Given the description of an element on the screen output the (x, y) to click on. 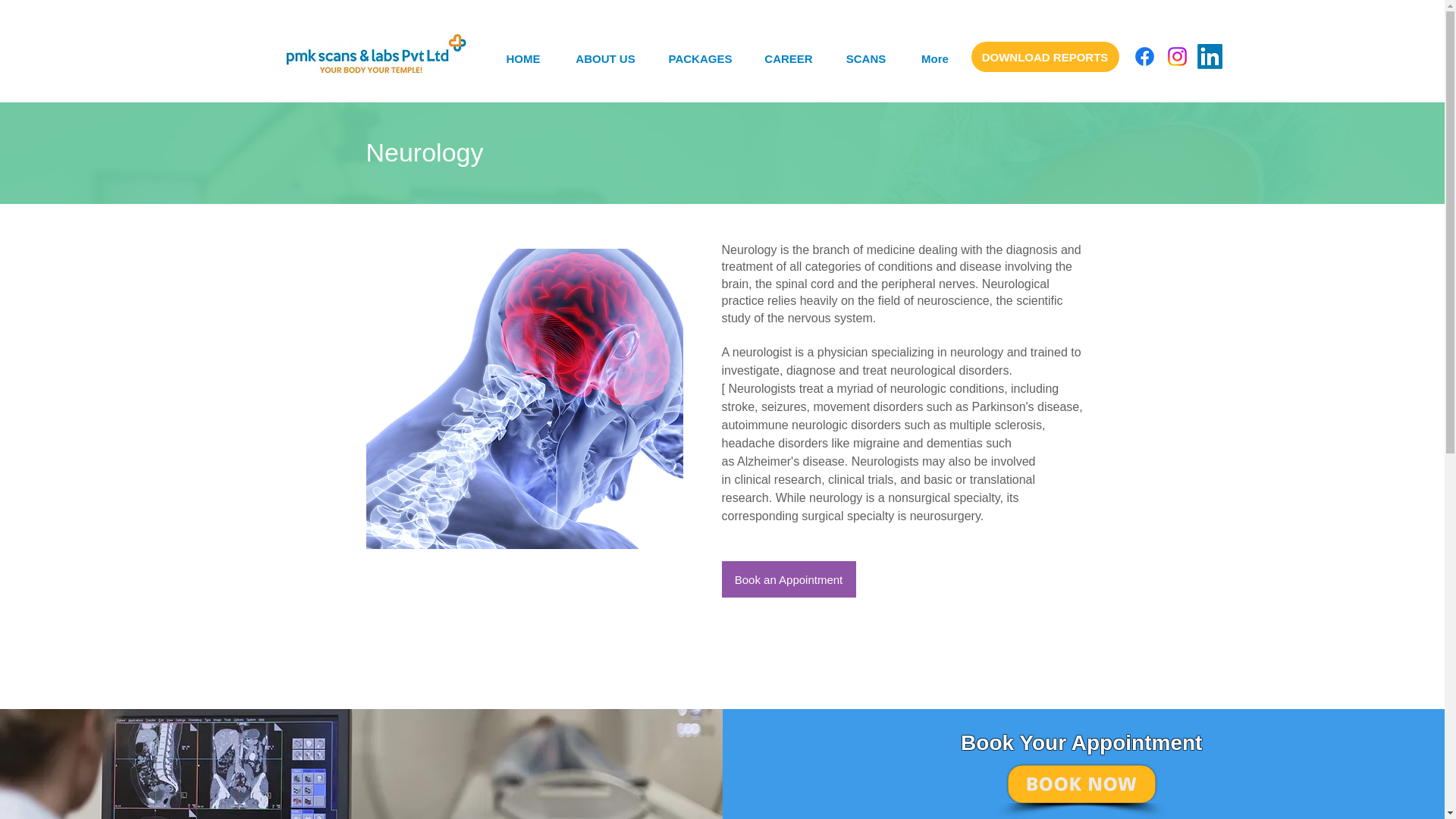
medicine (890, 249)
neuroscience (952, 300)
clinical research (777, 479)
Parkinson's disease (1024, 406)
clinical trials (860, 479)
Alzheimer's disease (790, 461)
neurological disorders (949, 369)
basic (937, 479)
nervous system (829, 318)
PACKAGES (700, 58)
Book an Appointment (789, 579)
DOWNLOAD REPORTS (1044, 56)
HOME (523, 58)
translational research (878, 488)
ABOUT US (604, 58)
